Given the description of an element on the screen output the (x, y) to click on. 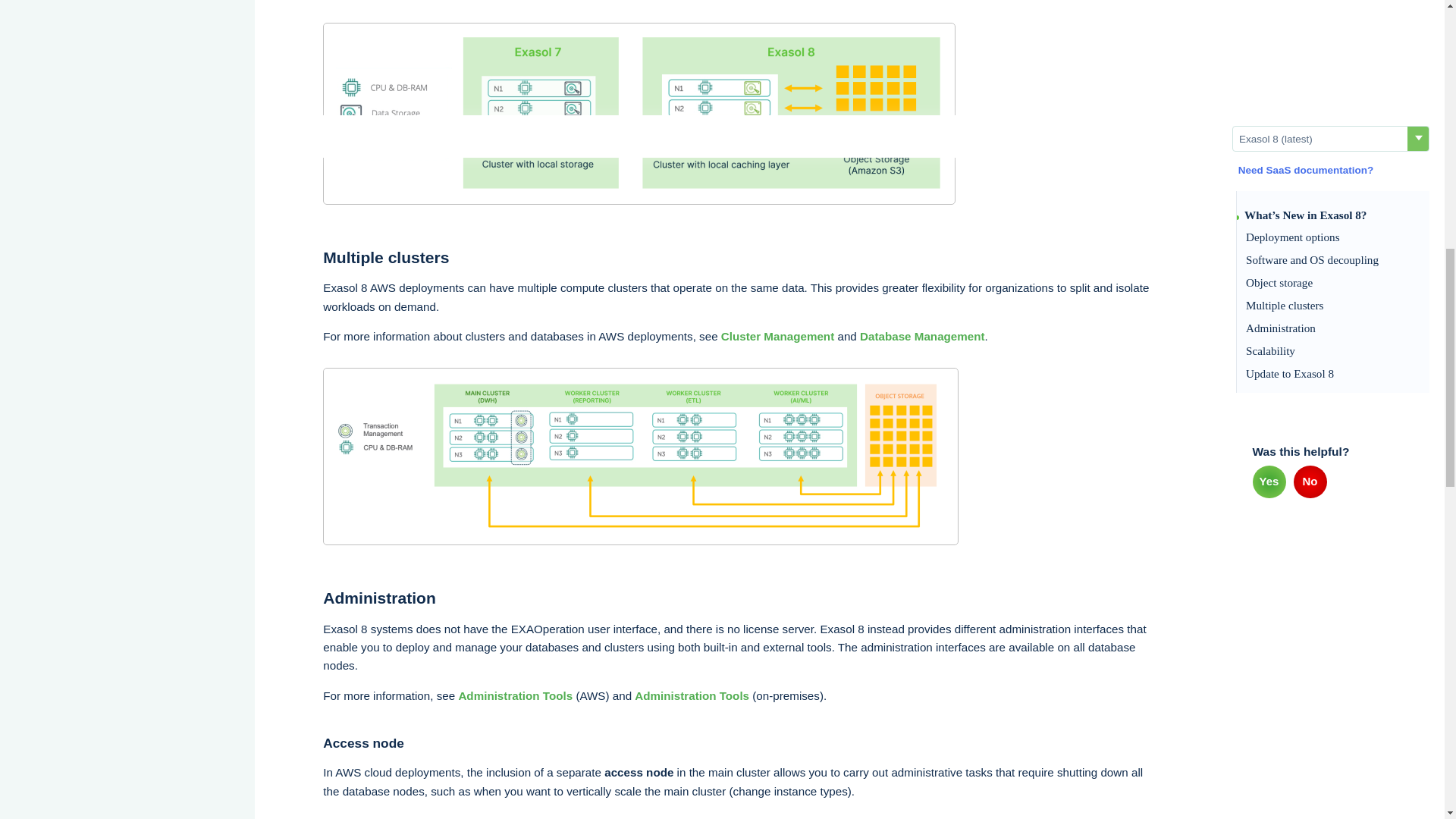
Administration Tools (515, 695)
Administration Tools (691, 695)
Cluster Management (777, 336)
Database Management (922, 336)
